Given the description of an element on the screen output the (x, y) to click on. 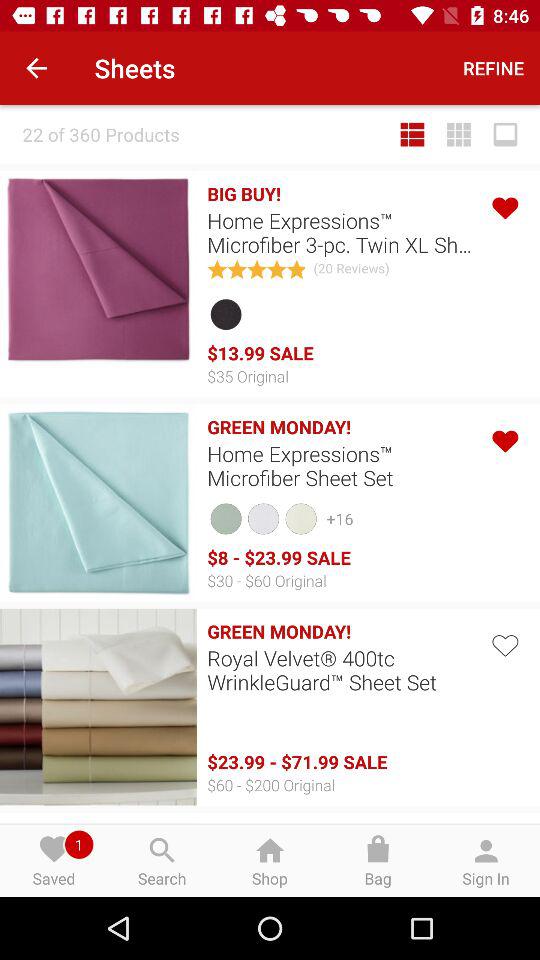
mark item as a favorite (504, 643)
